Given the description of an element on the screen output the (x, y) to click on. 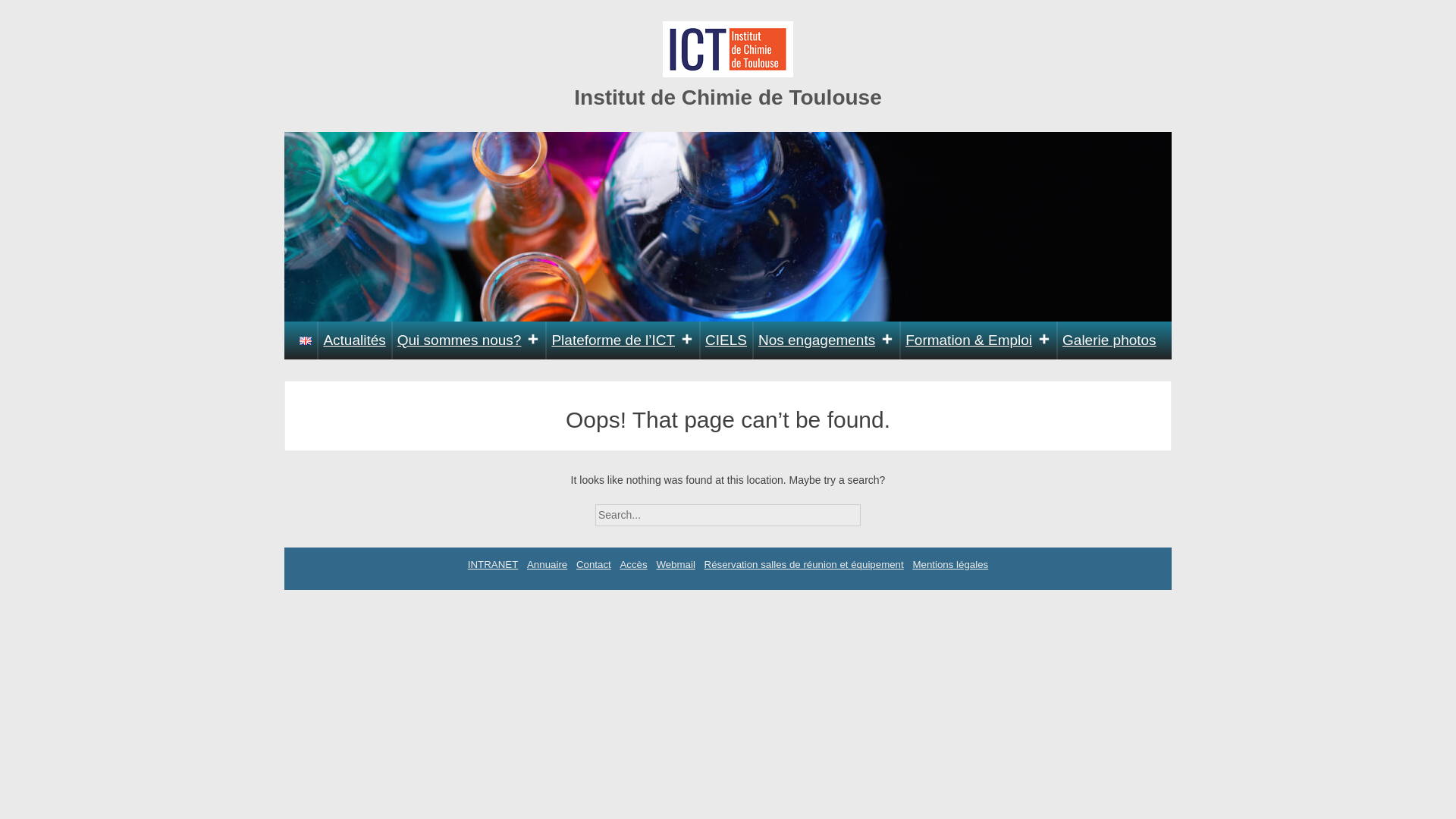
Institut de Chimie de Toulouse (727, 97)
Nos engagements (825, 340)
Search (873, 509)
CIELS (726, 340)
Qui sommes nous? (468, 340)
Search (873, 509)
